Given the description of an element on the screen output the (x, y) to click on. 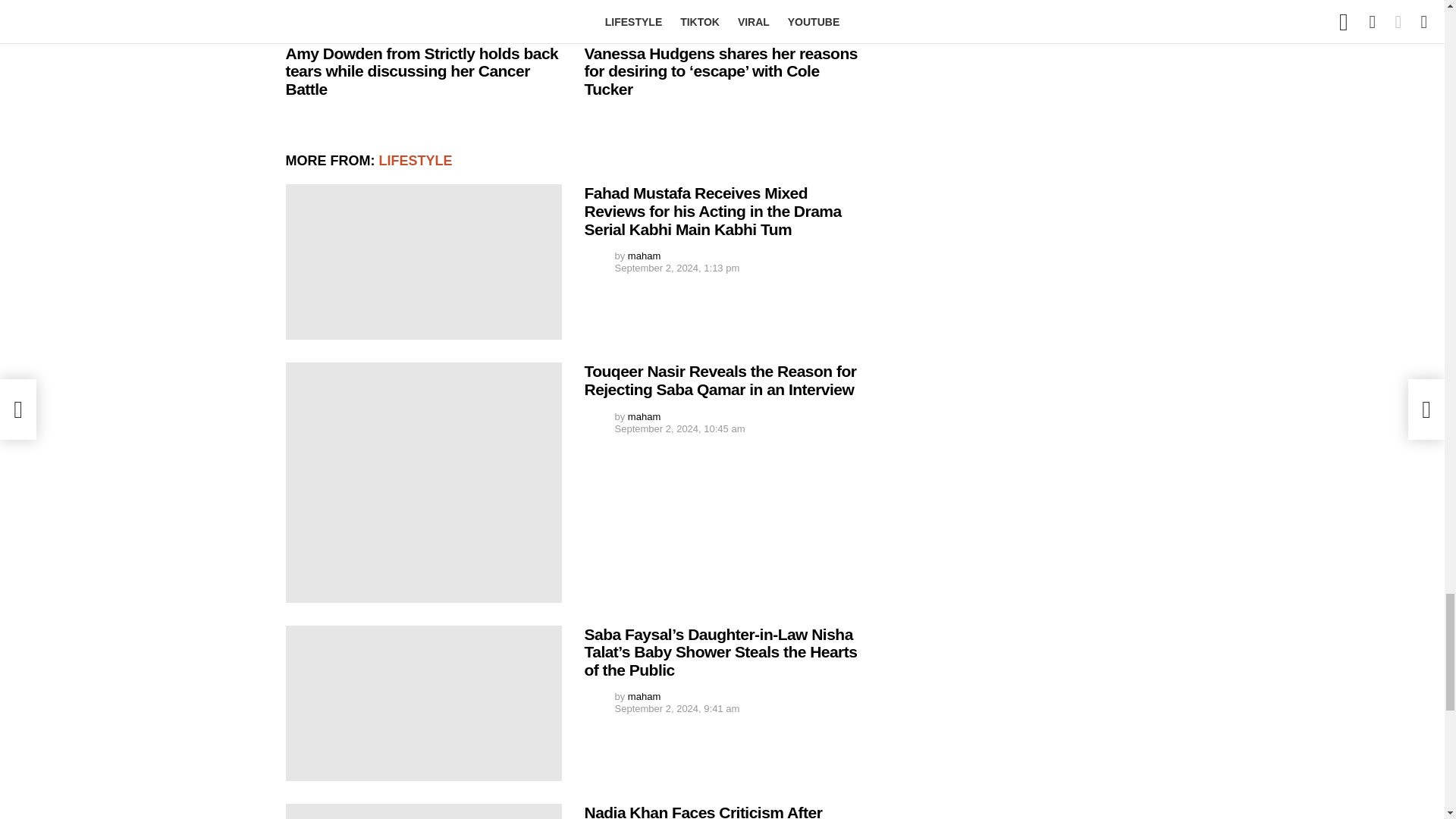
Posts by maham (644, 255)
